Given the description of an element on the screen output the (x, y) to click on. 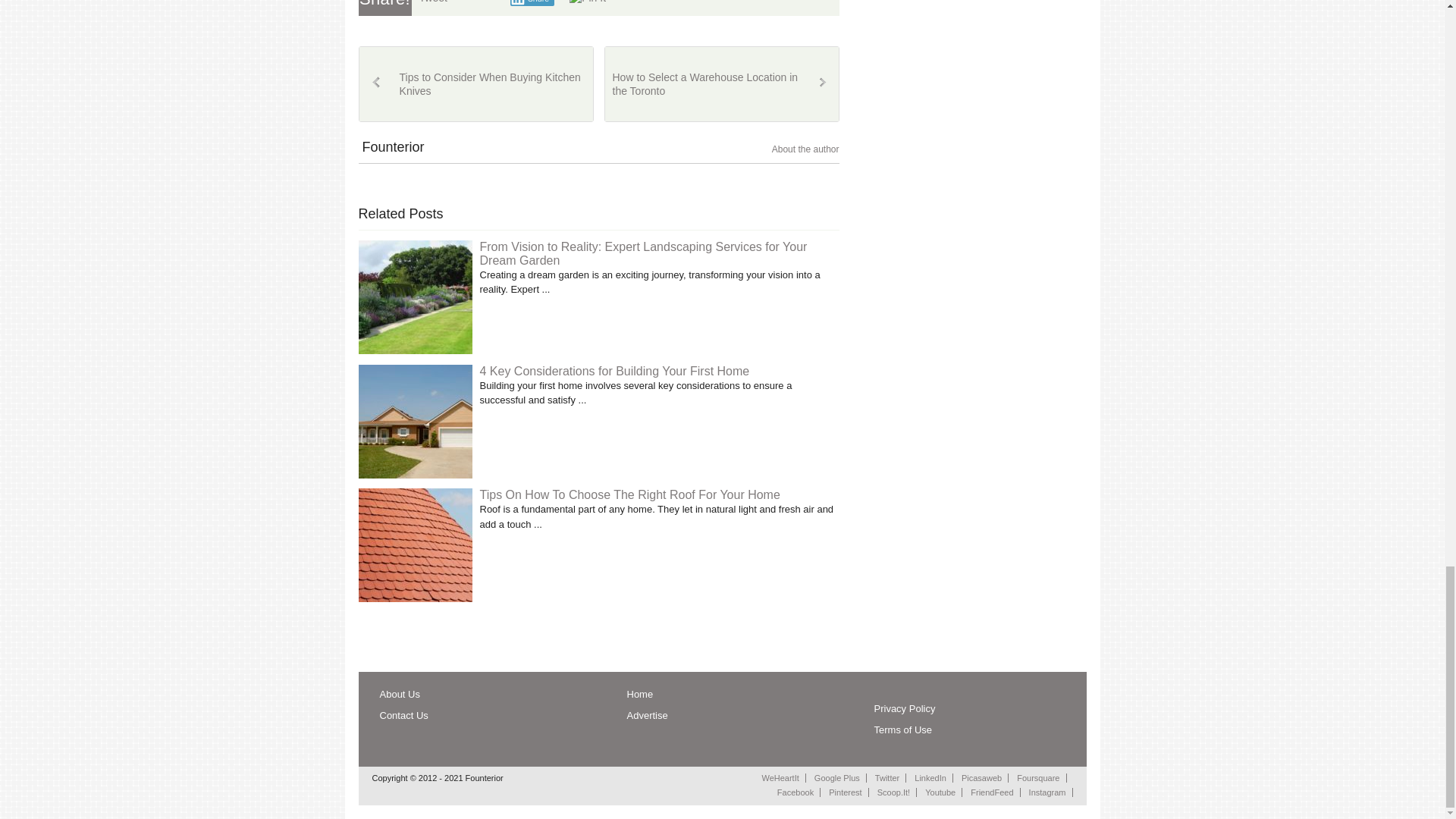
Pin It (587, 2)
